Given the description of an element on the screen output the (x, y) to click on. 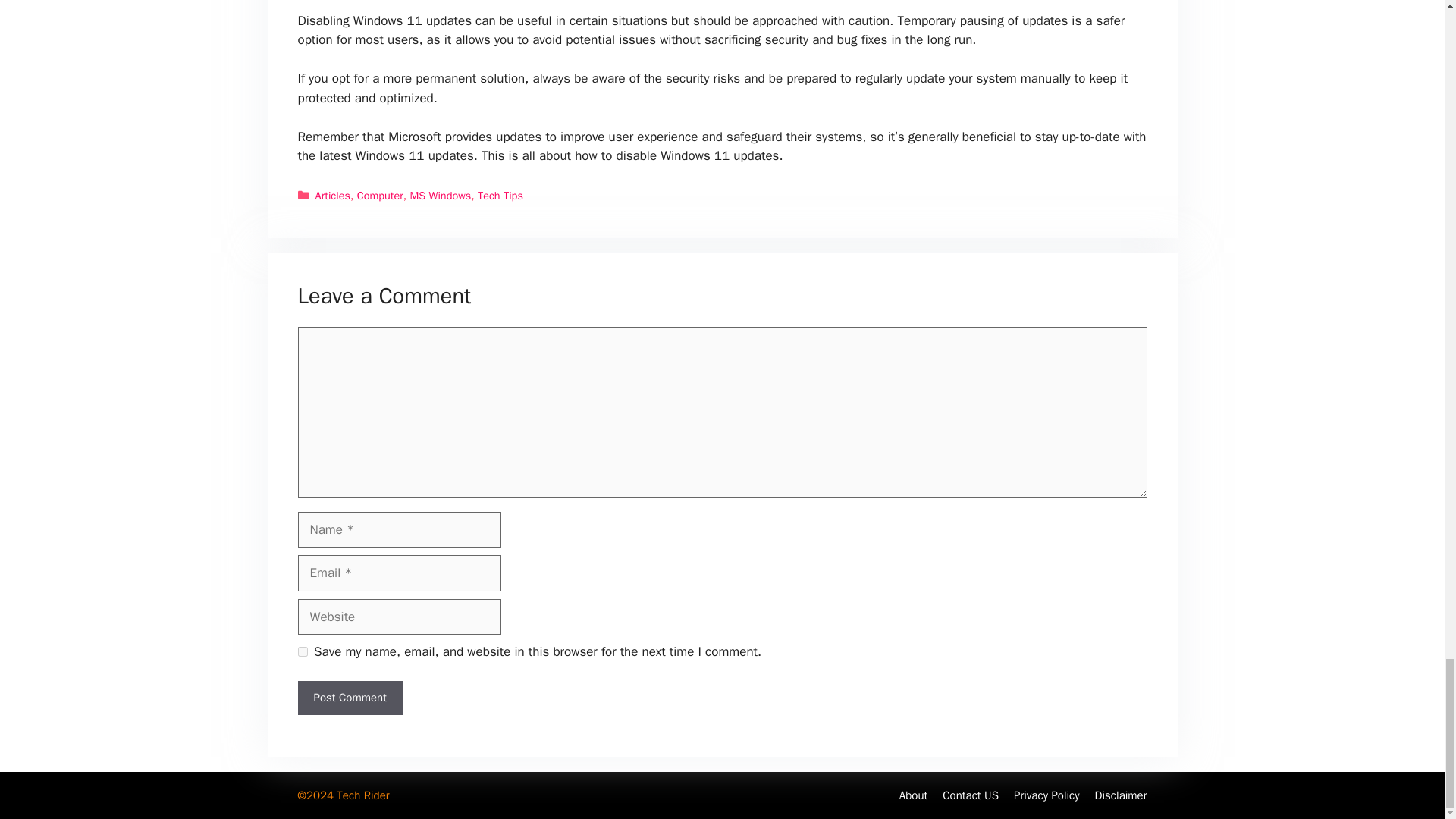
Computer (379, 195)
Articles (332, 195)
yes (302, 651)
Post Comment (349, 697)
Tech Tips (499, 195)
Post Comment (349, 697)
MS Windows (439, 195)
